Given the description of an element on the screen output the (x, y) to click on. 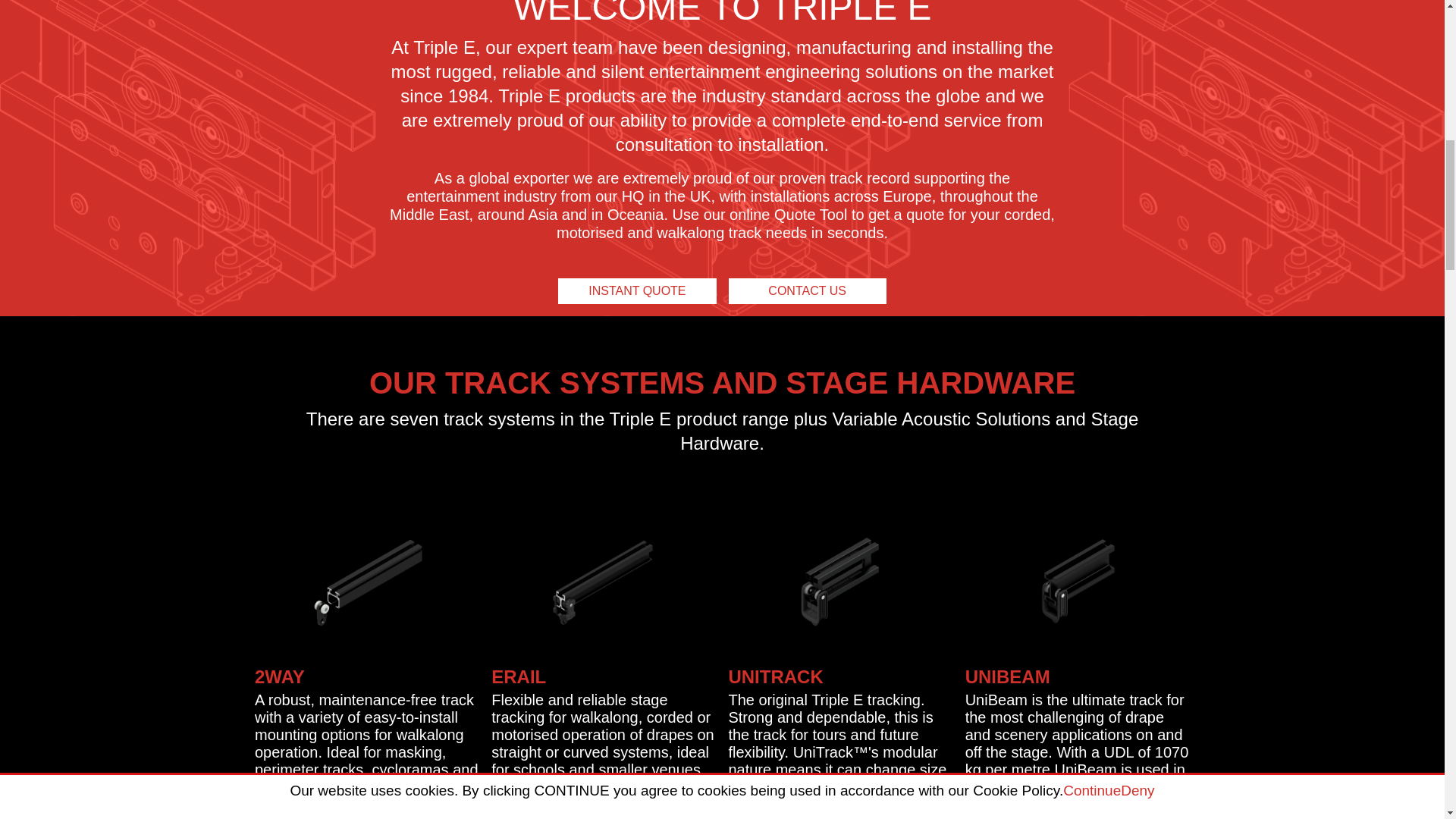
INSTANT QUOTE (636, 290)
CONTACT US (806, 290)
2WAY (279, 676)
